Given the description of an element on the screen output the (x, y) to click on. 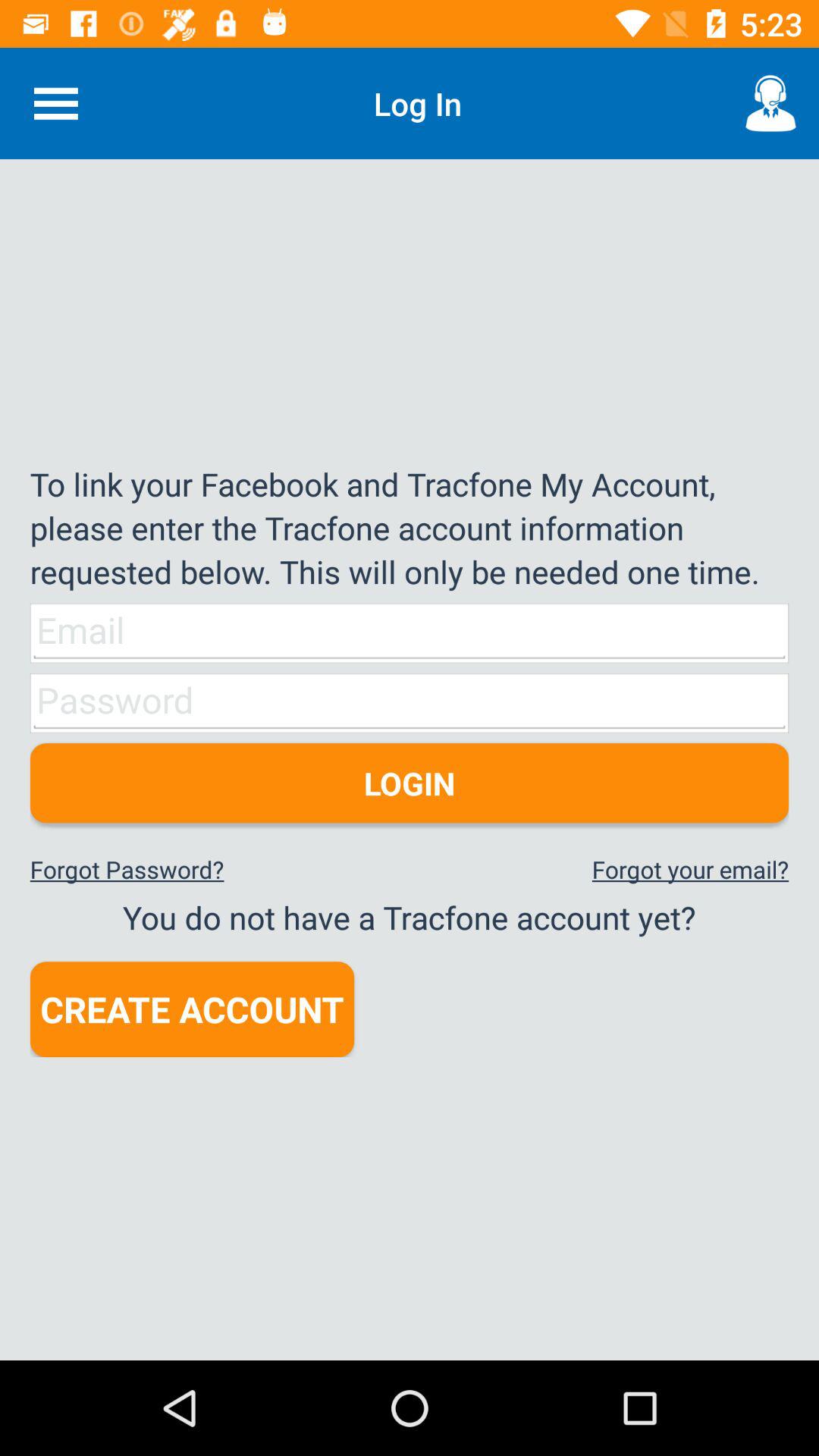
press create account at the bottom left corner (192, 1009)
